Given the description of an element on the screen output the (x, y) to click on. 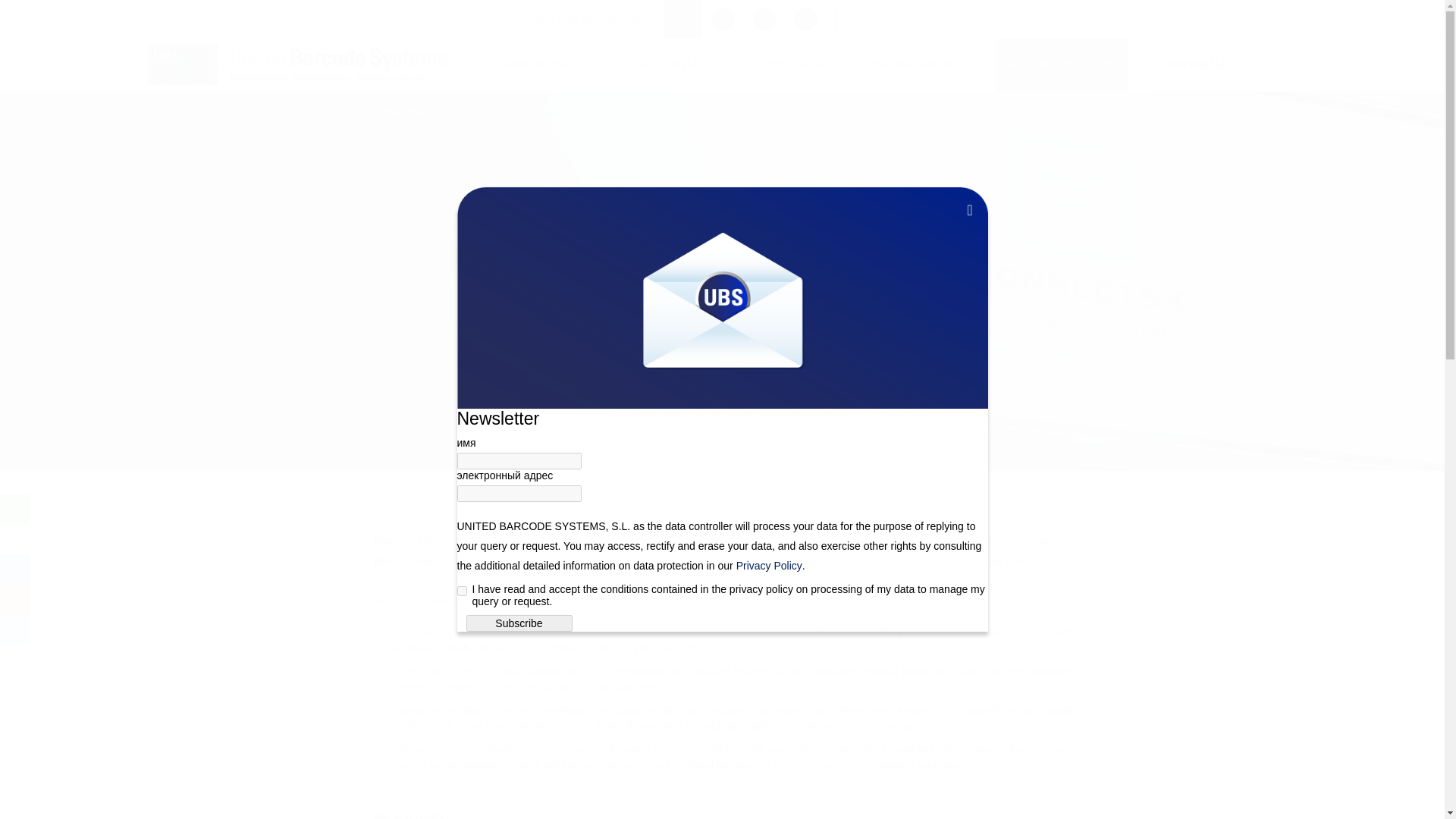
Subscribe (518, 623)
Y (461, 591)
